Given the description of an element on the screen output the (x, y) to click on. 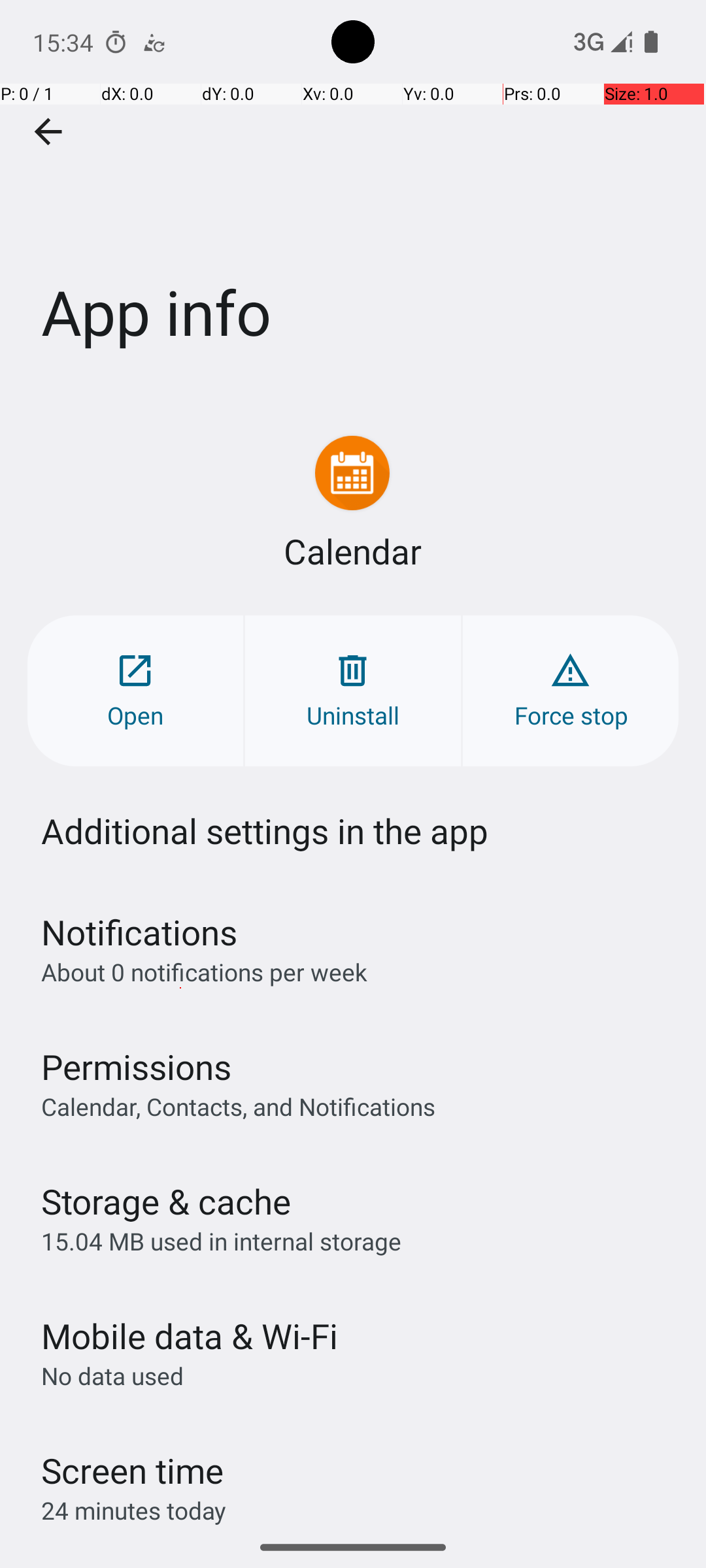
Additional settings in the app Element type: android.widget.TextView (264, 830)
Calendar, Contacts, and Notifications Element type: android.widget.TextView (238, 1106)
15.04 MB used in internal storage Element type: android.widget.TextView (221, 1240)
24 minutes today Element type: android.widget.TextView (133, 1509)
